Given the description of an element on the screen output the (x, y) to click on. 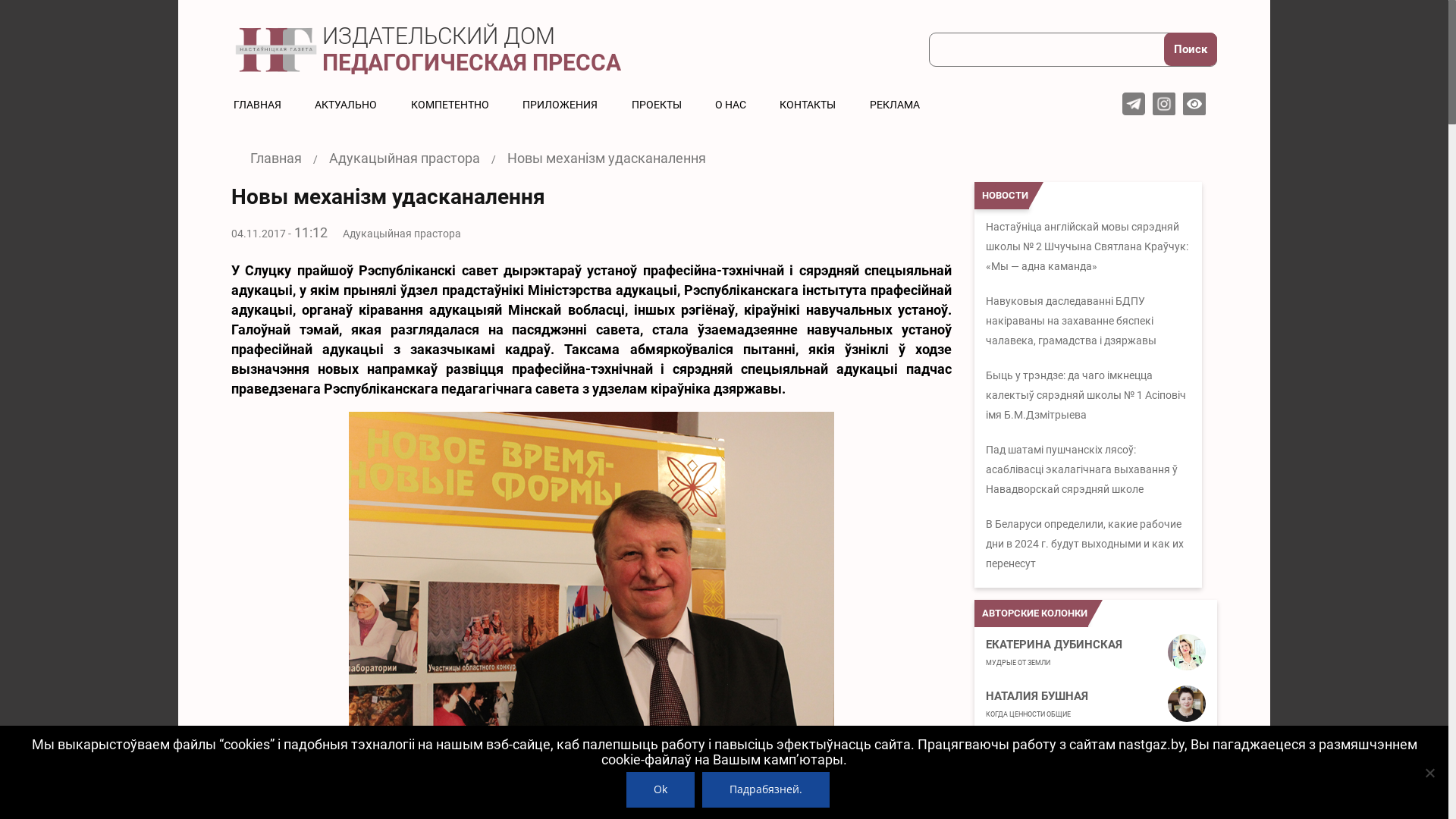
Instagram Element type: hover (1163, 103)
Telegram Element type: hover (1133, 103)
04.11.2017 Element type: text (258, 233)
Ok Element type: text (660, 789)
